Given the description of an element on the screen output the (x, y) to click on. 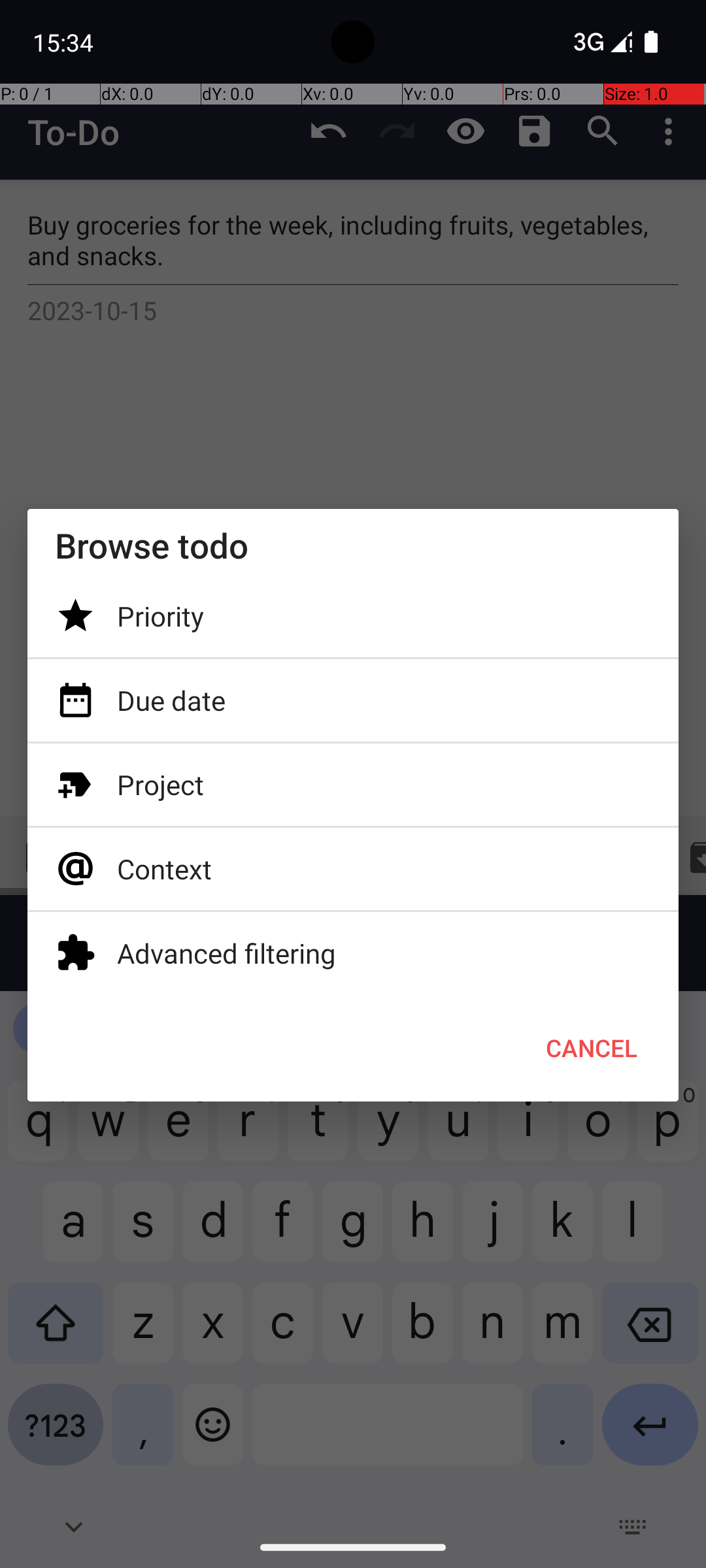
Browse todo Element type: android.widget.TextView (352, 545)
Due date Element type: android.widget.TextView (352, 700)
Project Element type: android.widget.TextView (352, 784)
Context Element type: android.widget.TextView (352, 868)
Advanced filtering Element type: android.widget.TextView (352, 953)
